Given the description of an element on the screen output the (x, y) to click on. 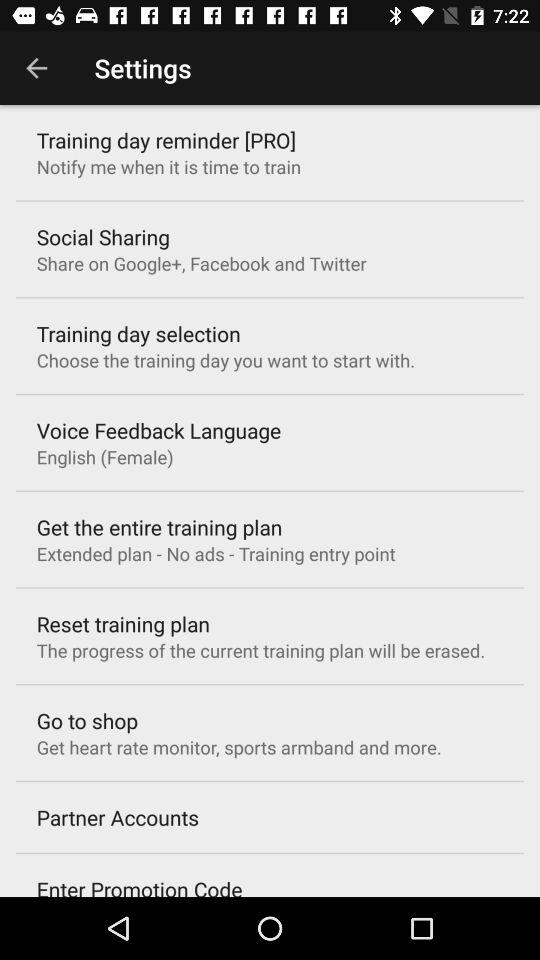
turn off icon next to the settings (36, 68)
